Given the description of an element on the screen output the (x, y) to click on. 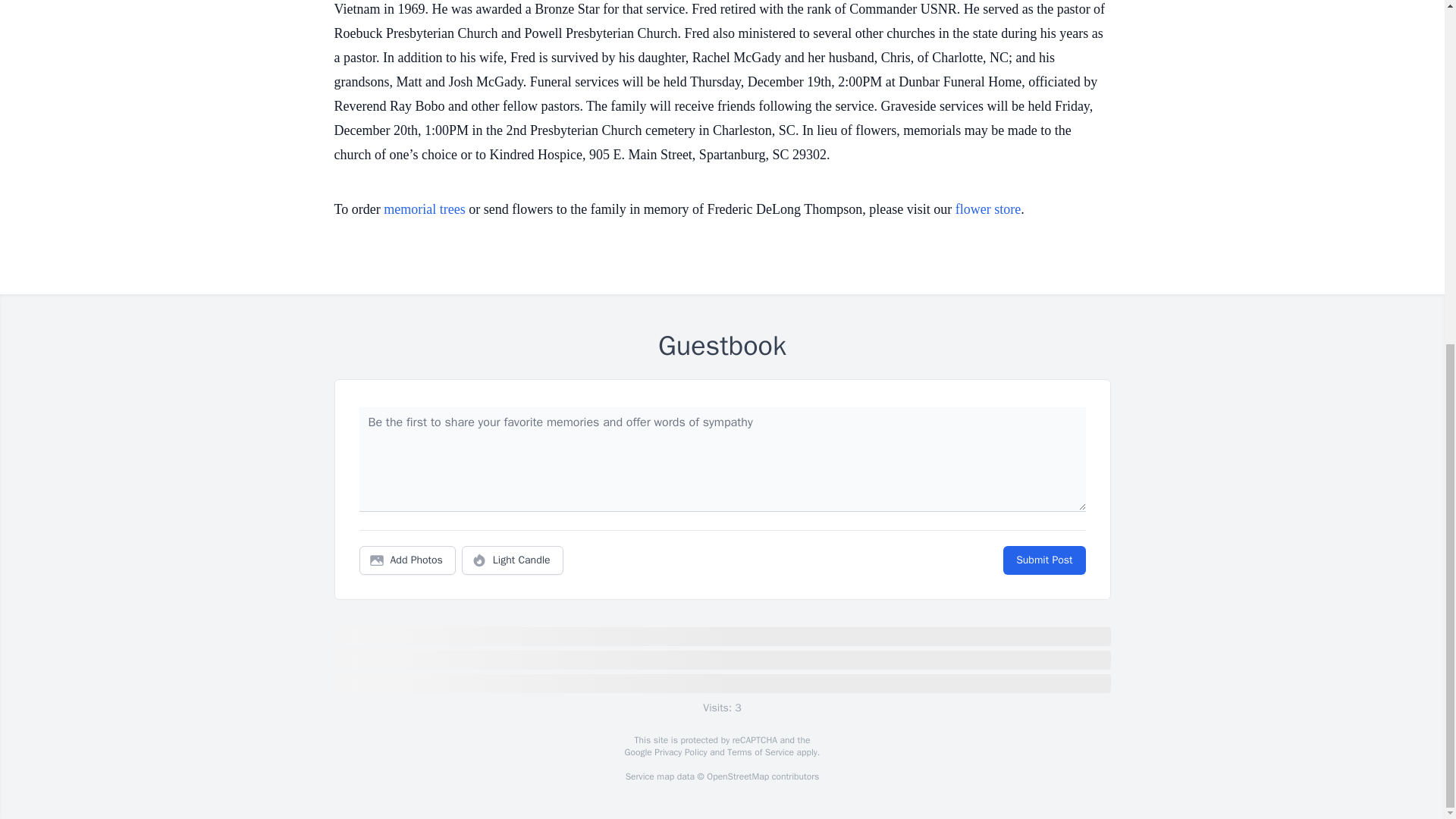
Privacy Policy (679, 752)
Add Photos (407, 560)
Submit Post (1043, 560)
OpenStreetMap (737, 776)
flower store (987, 209)
memorial trees (424, 209)
Terms of Service (759, 752)
Light Candle (512, 560)
